Given the description of an element on the screen output the (x, y) to click on. 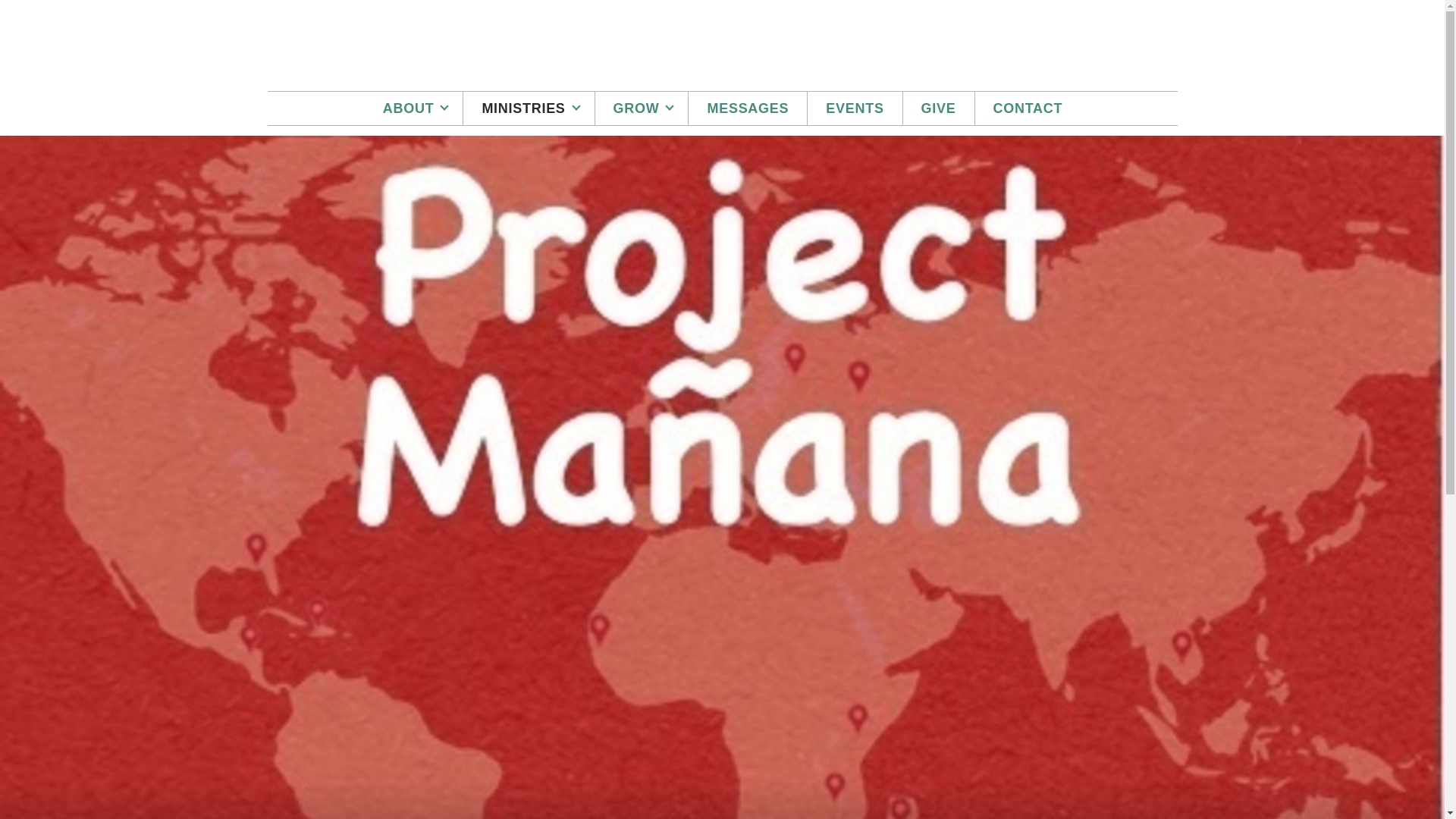
ABOUT (414, 108)
MINISTRIES (528, 108)
GROW (641, 108)
EVENTS (854, 108)
MESSAGES (747, 108)
GIVE (938, 108)
